Given the description of an element on the screen output the (x, y) to click on. 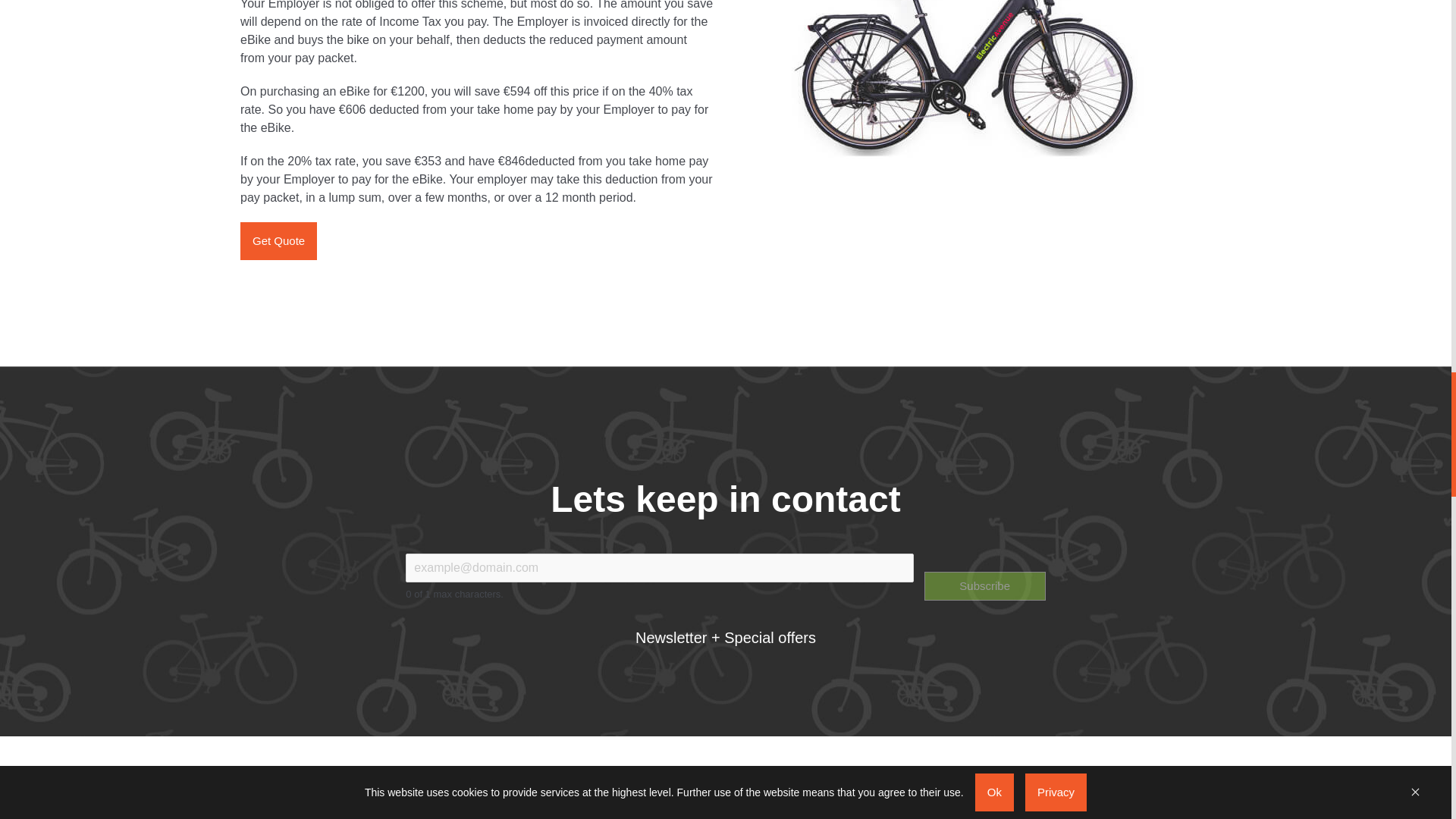
Get Quote (278, 240)
